Given the description of an element on the screen output the (x, y) to click on. 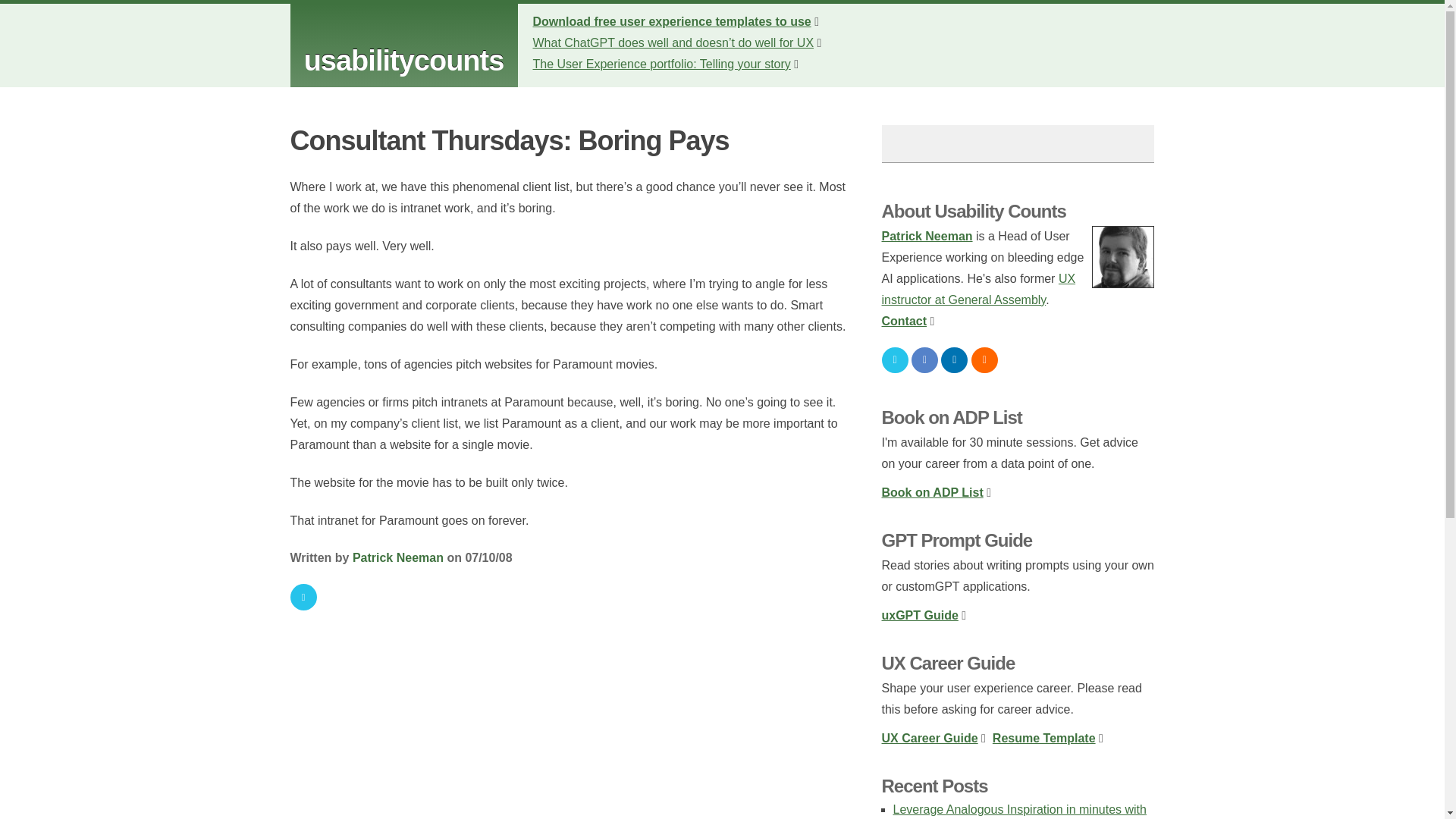
Share on Twitter (302, 596)
Book on ADP List (951, 417)
Download free user experience templates to use (671, 21)
The User Experience portfolio: Telling your story (661, 63)
Resume Template (1044, 738)
Subscribe to the Twitter Feed (893, 358)
Patrick Neeman (926, 236)
Book on ADP List (931, 492)
usabilitycounts (403, 60)
Connect on LinkedIn (954, 358)
